Given the description of an element on the screen output the (x, y) to click on. 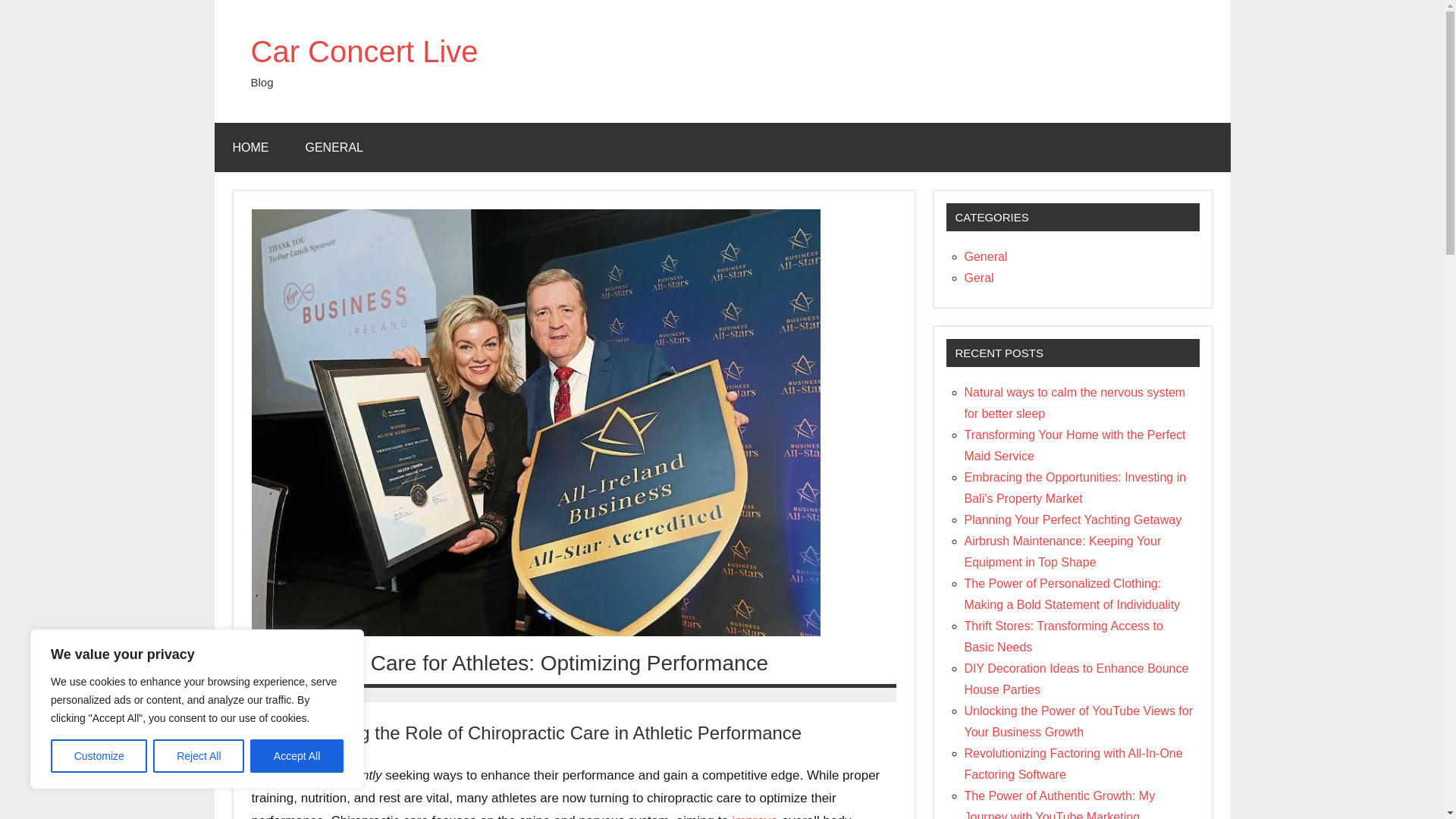
Transforming Your Home with the Perfect Maid Service (1074, 445)
Car Concert Live (363, 51)
Geral (978, 277)
Planning Your Perfect Yachting Getaway (1072, 519)
Reject All (198, 756)
Natural ways to calm the nervous system for better sleep (1074, 402)
GENERAL (333, 146)
Customize (98, 756)
improve (754, 816)
